Given the description of an element on the screen output the (x, y) to click on. 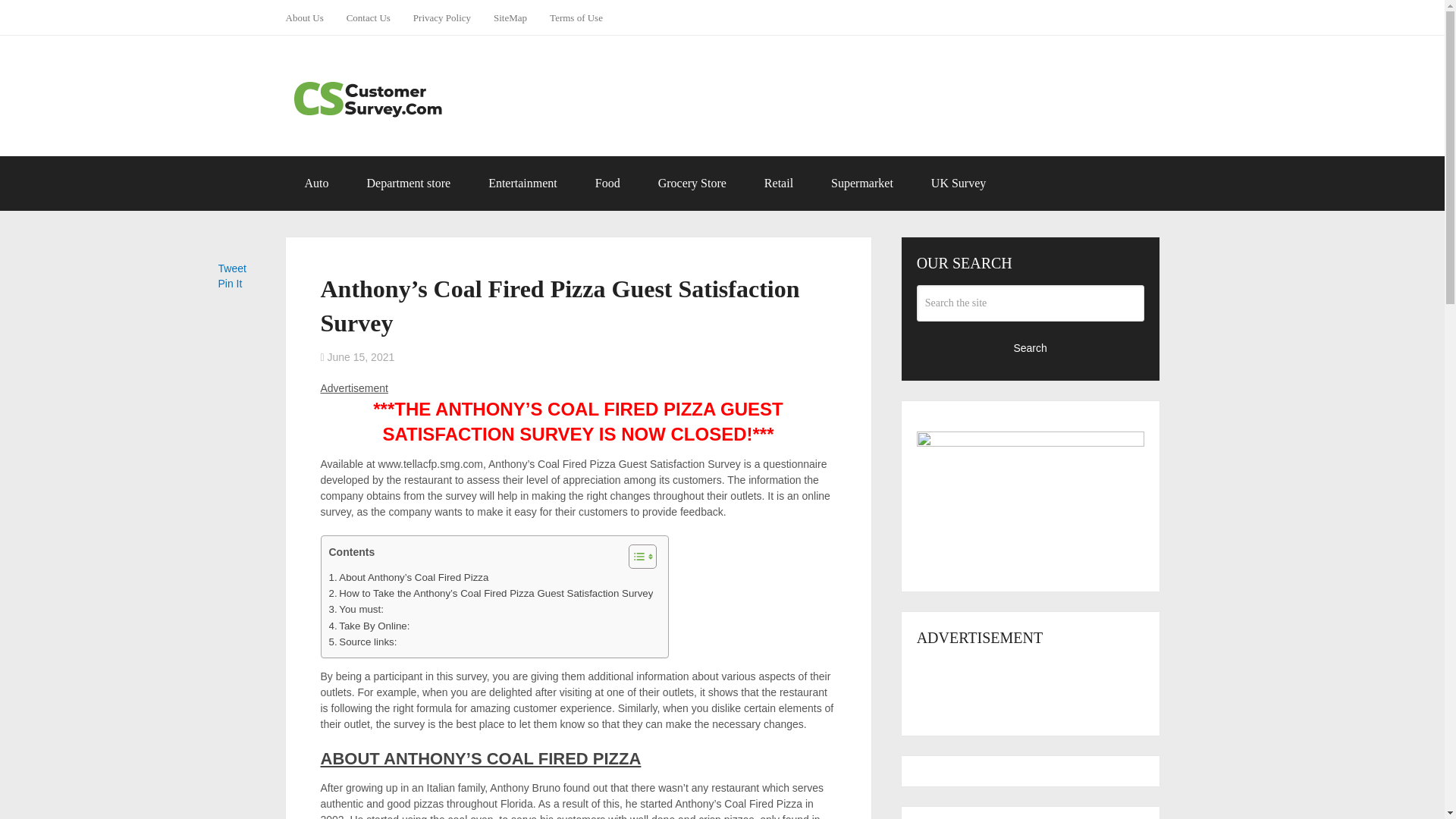
SiteMap (509, 17)
Entertainment (522, 183)
Auto (316, 183)
Contact Us (367, 17)
You must: (356, 609)
Grocery Store (692, 183)
Privacy Policy (441, 17)
Take By Online: (369, 625)
Source links: (363, 641)
Terms of Use (576, 17)
